Given the description of an element on the screen output the (x, y) to click on. 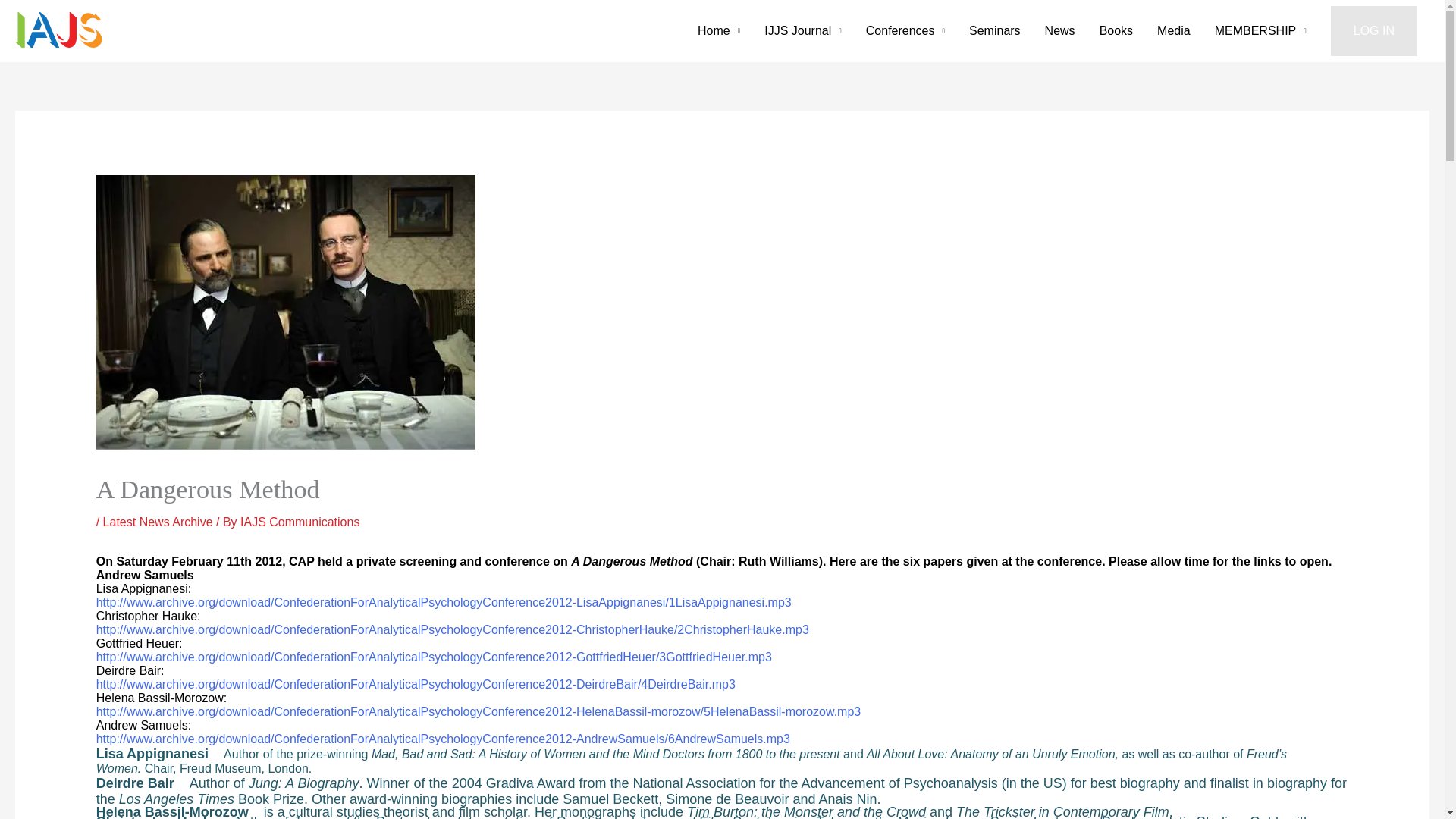
Conferences (904, 30)
IJJS Journal (802, 30)
Books (1115, 30)
MEMBERSHIP (1260, 30)
View all posts by IAJS Communications (299, 521)
Media (1173, 30)
News (1059, 30)
Home (718, 30)
Seminars (994, 30)
